Given the description of an element on the screen output the (x, y) to click on. 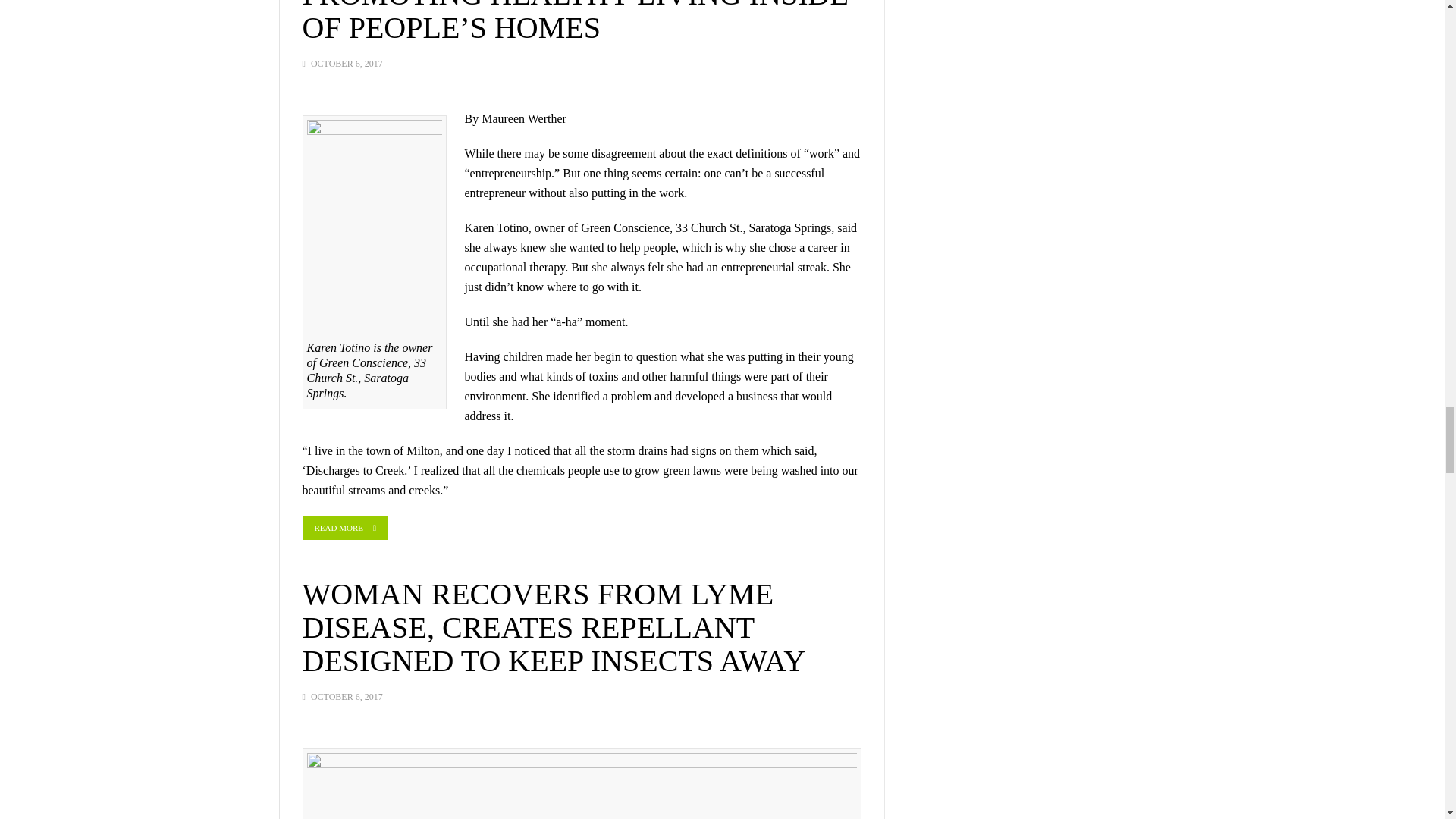
READ MORE (344, 527)
OCTOBER 6, 2017 (346, 63)
OCTOBER 6, 2017 (346, 696)
